Given the description of an element on the screen output the (x, y) to click on. 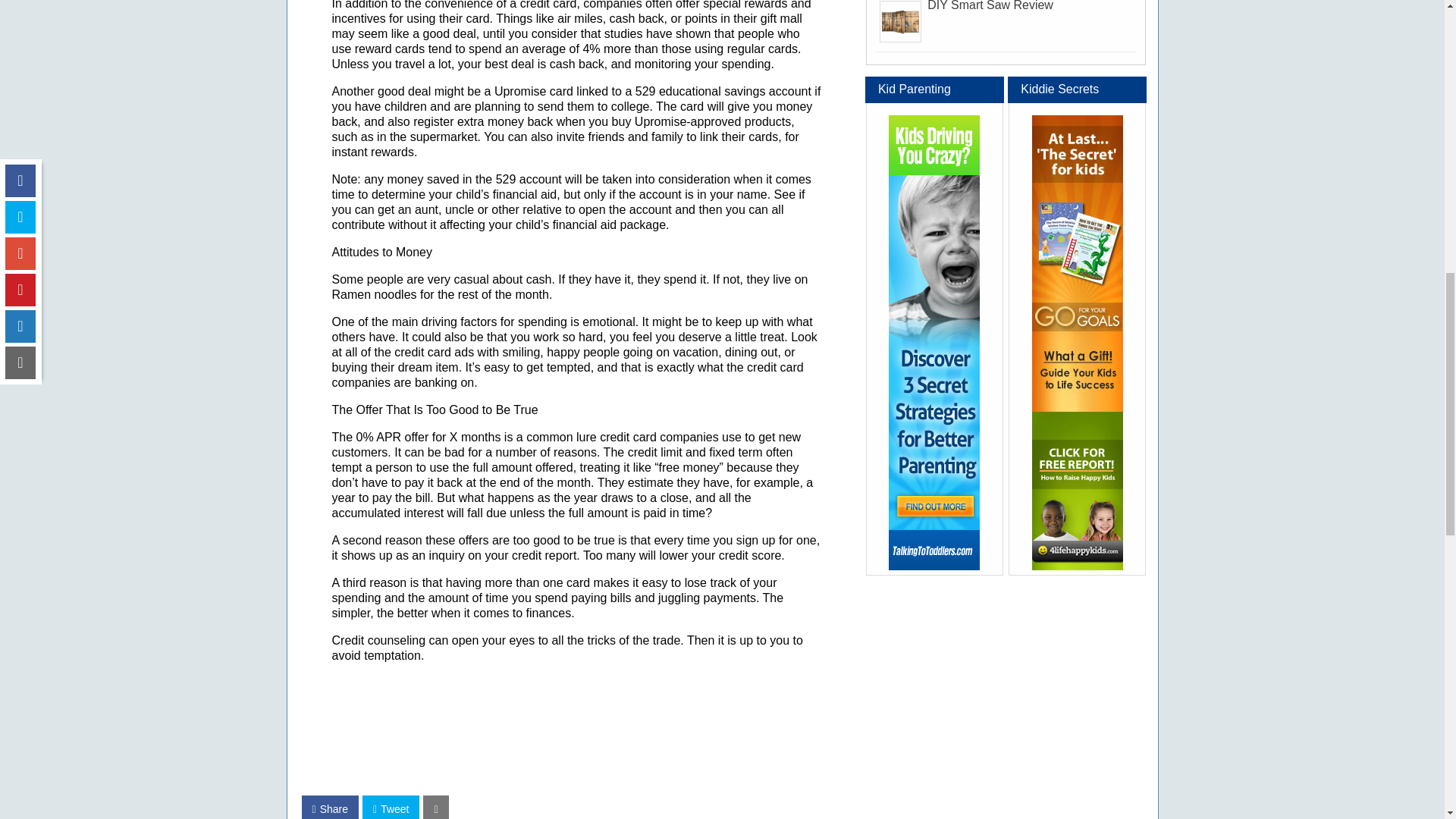
Tweet on Twitter (390, 807)
Share On Facebook (329, 807)
